Given the description of an element on the screen output the (x, y) to click on. 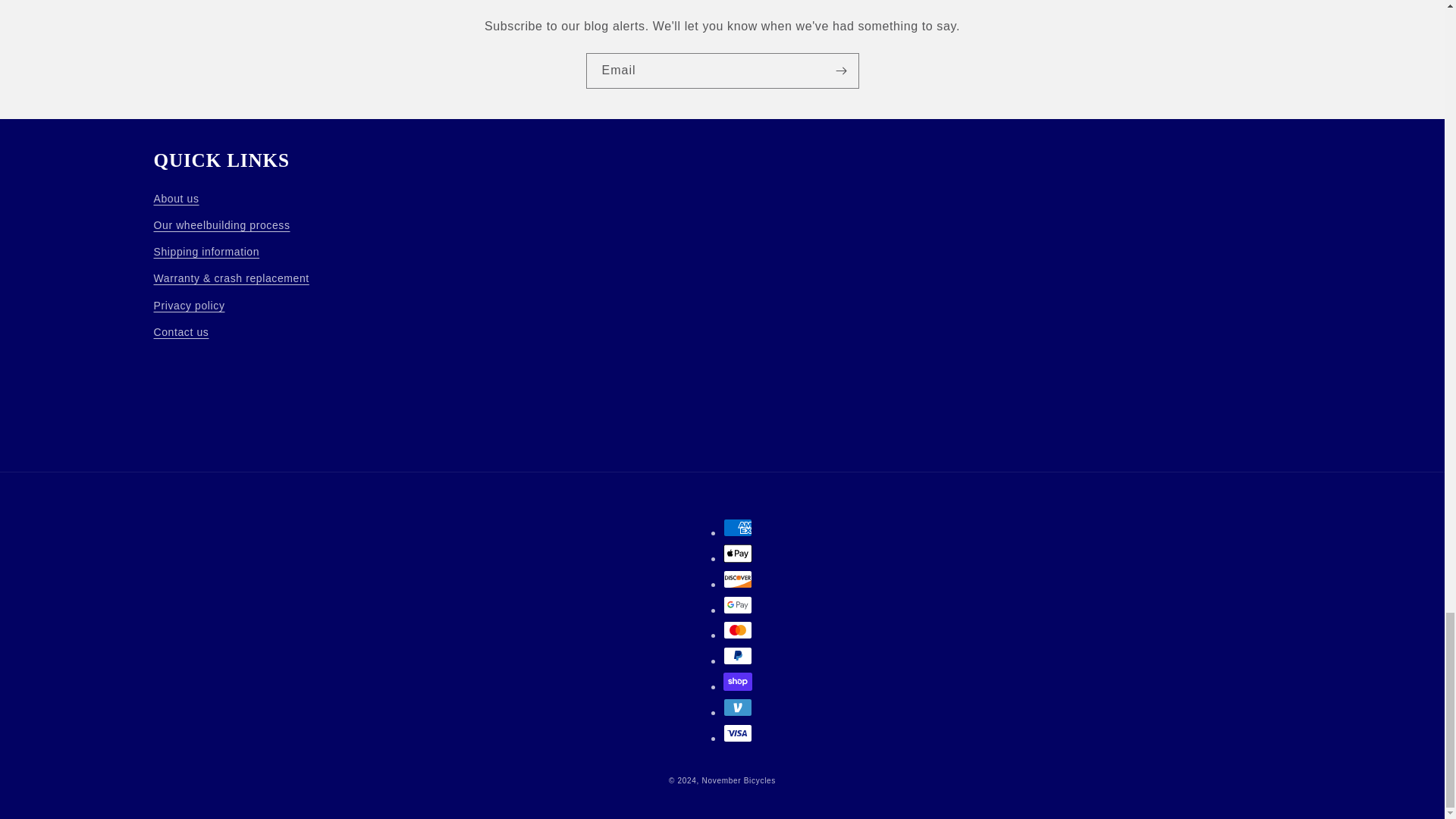
About us (175, 200)
Visa (737, 732)
Venmo (737, 707)
American Express (737, 527)
Mastercard (737, 629)
Contact us (180, 332)
PayPal (737, 656)
Shipping information (205, 252)
Apple Pay (737, 553)
Discover (737, 579)
